Given the description of an element on the screen output the (x, y) to click on. 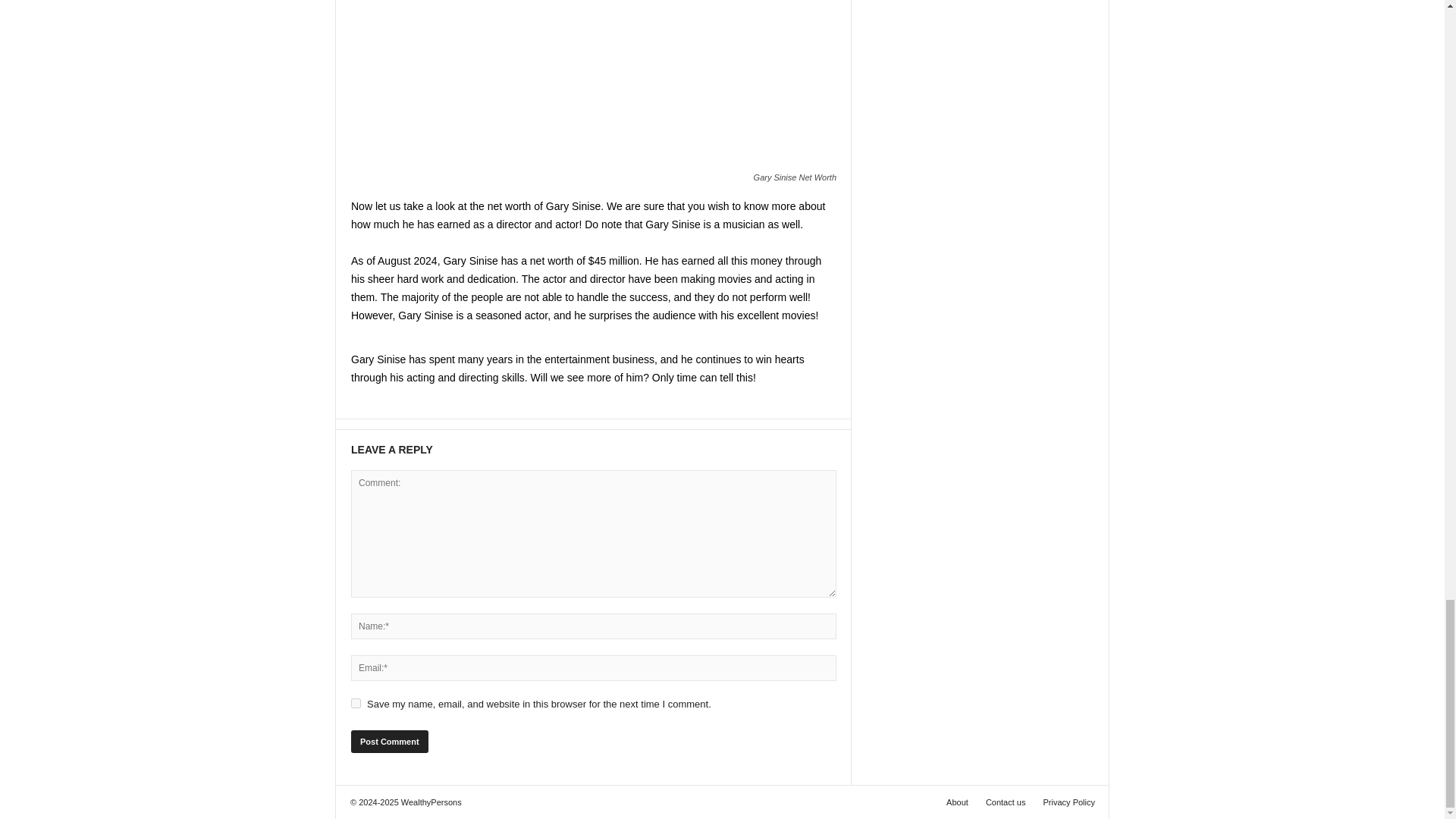
About (957, 801)
yes (355, 703)
Contact us (1005, 801)
Post Comment (389, 741)
Privacy Policy (1064, 801)
Post Comment (389, 741)
